Given the description of an element on the screen output the (x, y) to click on. 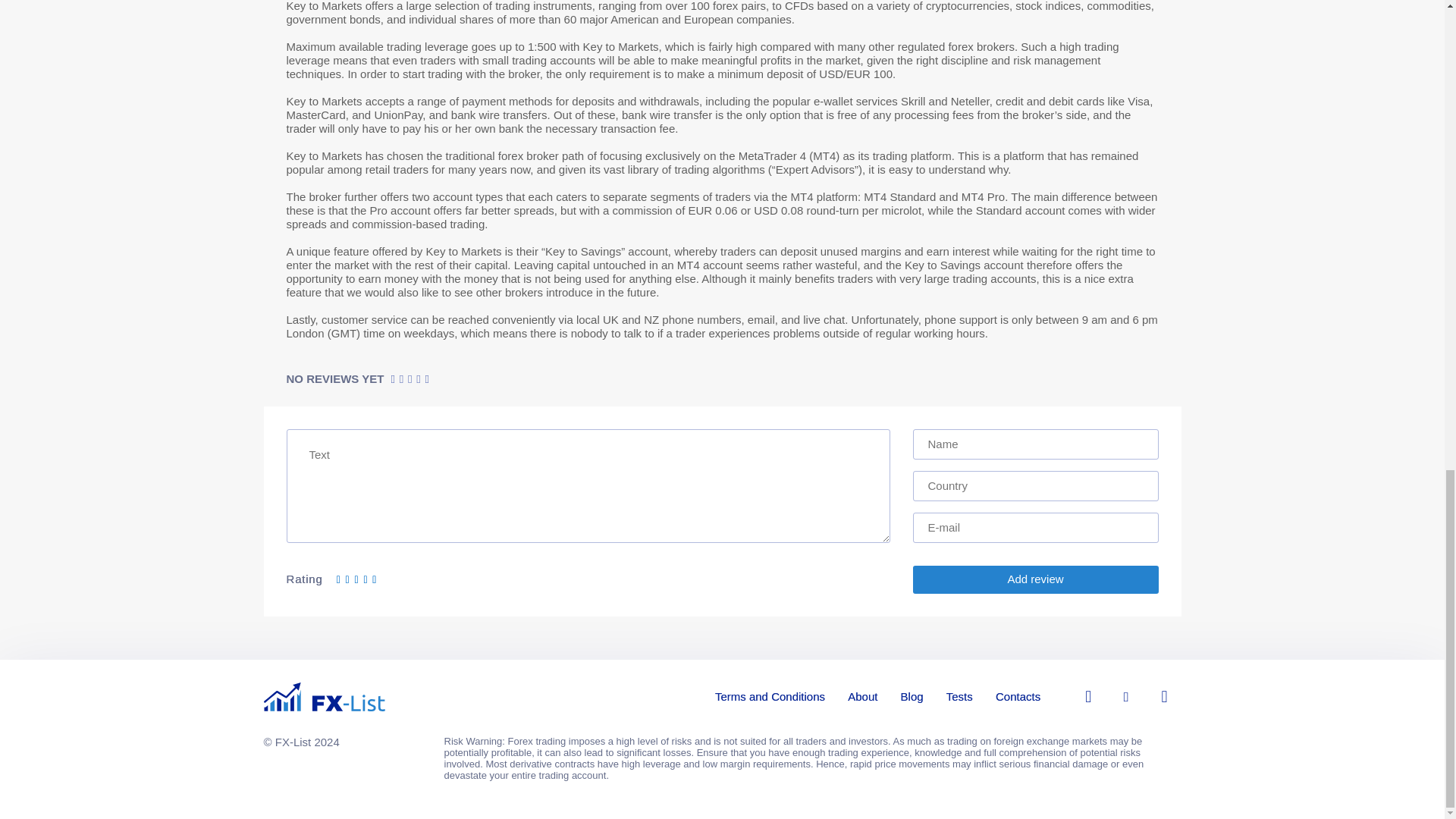
Add review (1035, 578)
About (862, 695)
Blog (912, 695)
Tests (959, 695)
Contacts (1018, 695)
Terms and Conditions (769, 695)
